Given the description of an element on the screen output the (x, y) to click on. 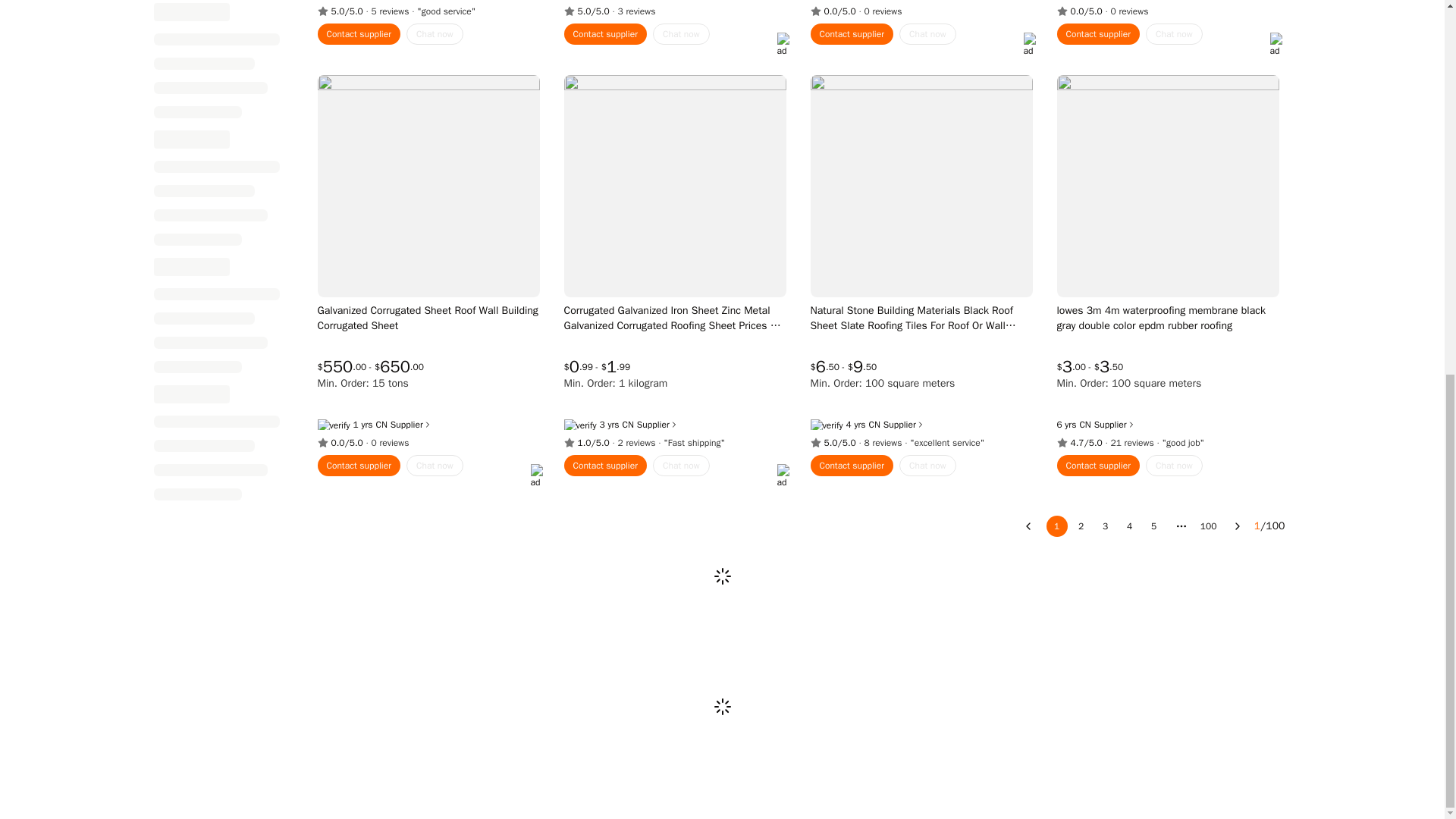
Lushan Shenlan Stone Co. ,LTD (874, 424)
Shandong Zhengxuan Metal Products Co., Ltd. (627, 424)
Chat now (927, 34)
Qingdao Wenrun Holding Co.,ltd (1084, 424)
Contact supplier (358, 34)
Contact supplier (851, 34)
Contact supplier (605, 34)
Chat now (681, 34)
Chat now (434, 34)
